Given the description of an element on the screen output the (x, y) to click on. 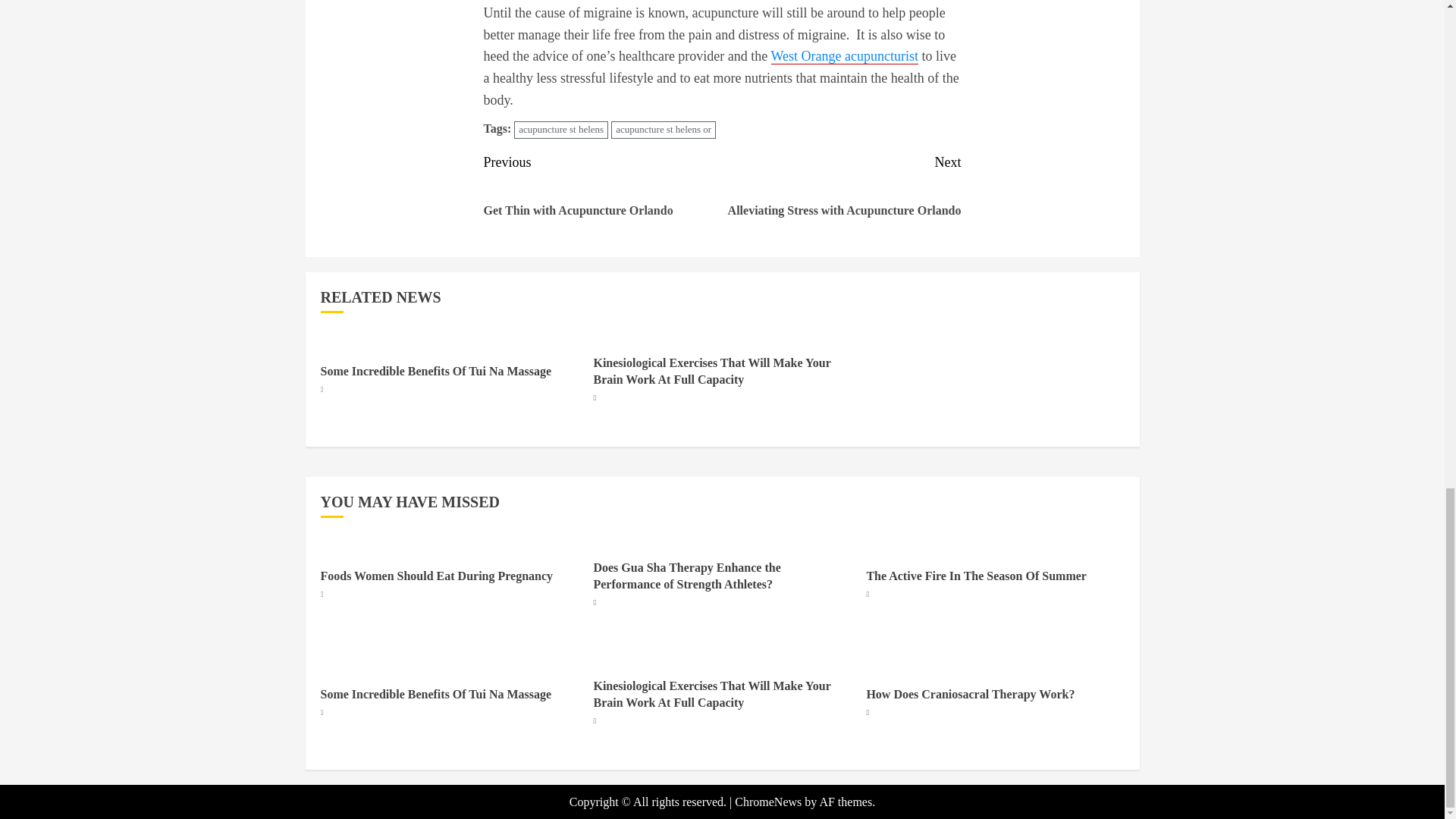
The Active Fire In The Season Of Summer (976, 576)
Some Incredible Benefits Of Tui Na Massage (435, 694)
acupuncture st helens (560, 129)
Some Incredible Benefits Of Tui Na Massage (435, 371)
acupuncture st helens or (841, 196)
West Orange acupuncturist (602, 196)
Foods Women Should Eat During Pregnancy (663, 129)
